Given the description of an element on the screen output the (x, y) to click on. 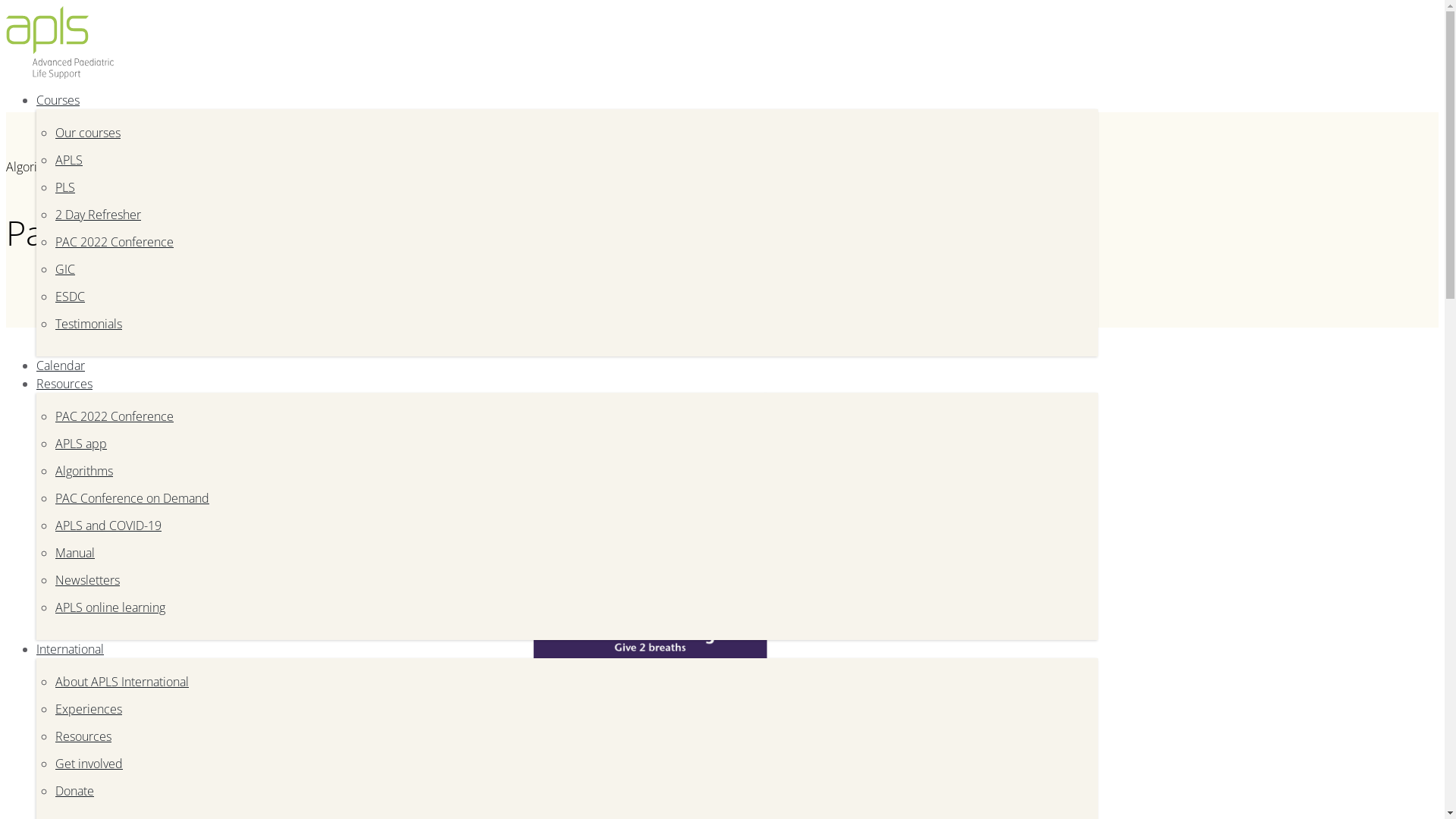
PAC 2022 Conference Element type: text (114, 415)
APLS app Element type: text (80, 443)
Newsletters Element type: text (87, 579)
APLS online learning Element type: text (110, 607)
Calendar Element type: text (60, 365)
Algorithms Element type: text (83, 470)
Manual Element type: text (74, 552)
Donate Element type: text (74, 790)
2 Day Refresher Element type: text (98, 214)
PLS Element type: text (65, 186)
ESDC Element type: text (69, 296)
International Element type: text (69, 648)
Courses Element type: text (57, 99)
Testimonials Element type: text (88, 323)
Resources Element type: text (83, 736)
Get involved Element type: text (88, 763)
APLS and COVID-19 Element type: text (108, 525)
Experiences Element type: text (88, 708)
APLS Element type: text (68, 159)
PAC Conference on Demand Element type: text (132, 497)
GIC Element type: text (65, 268)
PAC 2022 Conference Element type: text (114, 241)
About APLS International Element type: text (121, 681)
Resources Element type: text (64, 383)
Our courses Element type: text (87, 132)
